Given the description of an element on the screen output the (x, y) to click on. 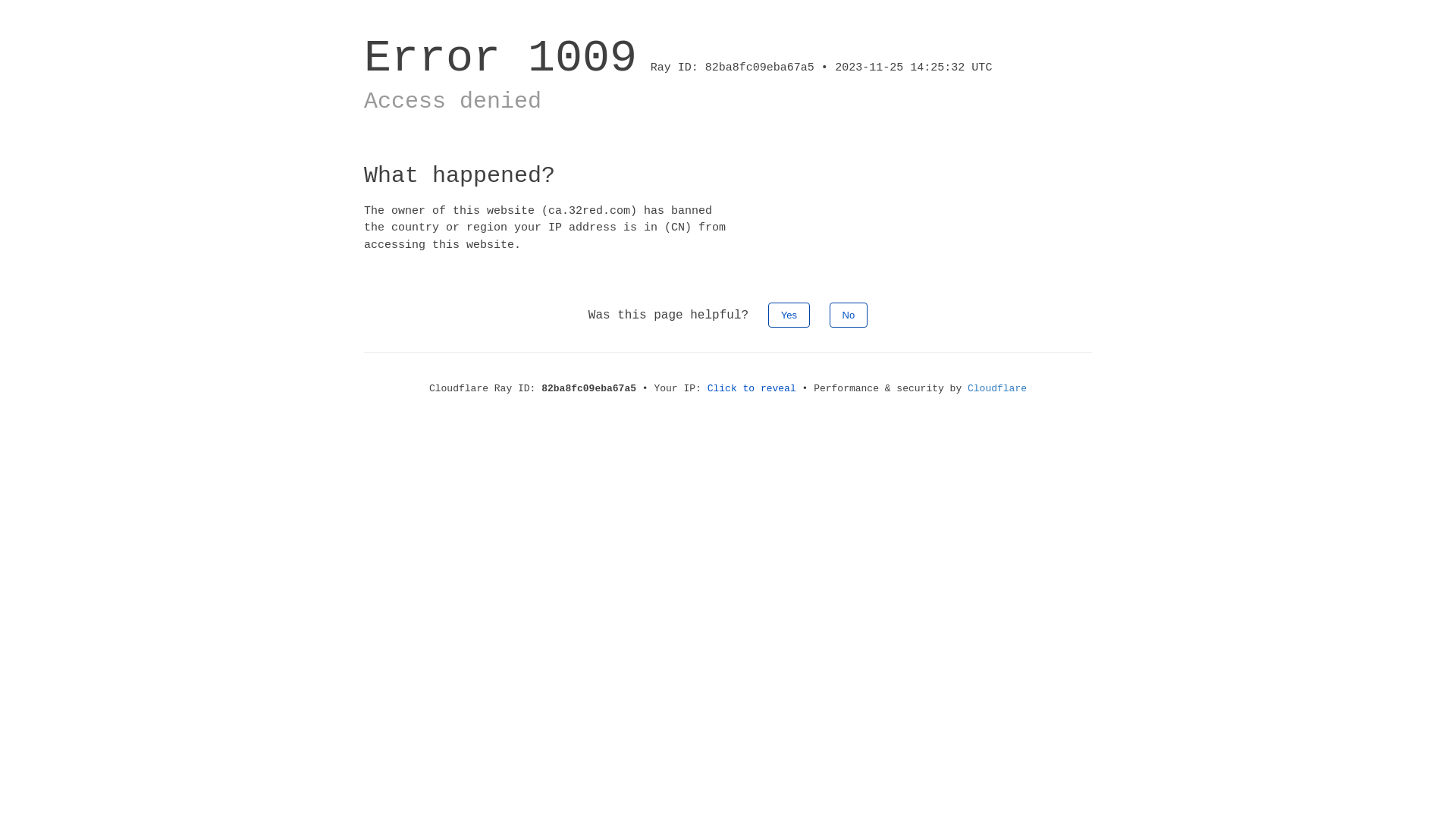
Click to reveal Element type: text (751, 388)
Yes Element type: text (788, 314)
Cloudflare Element type: text (996, 388)
No Element type: text (848, 314)
